Given the description of an element on the screen output the (x, y) to click on. 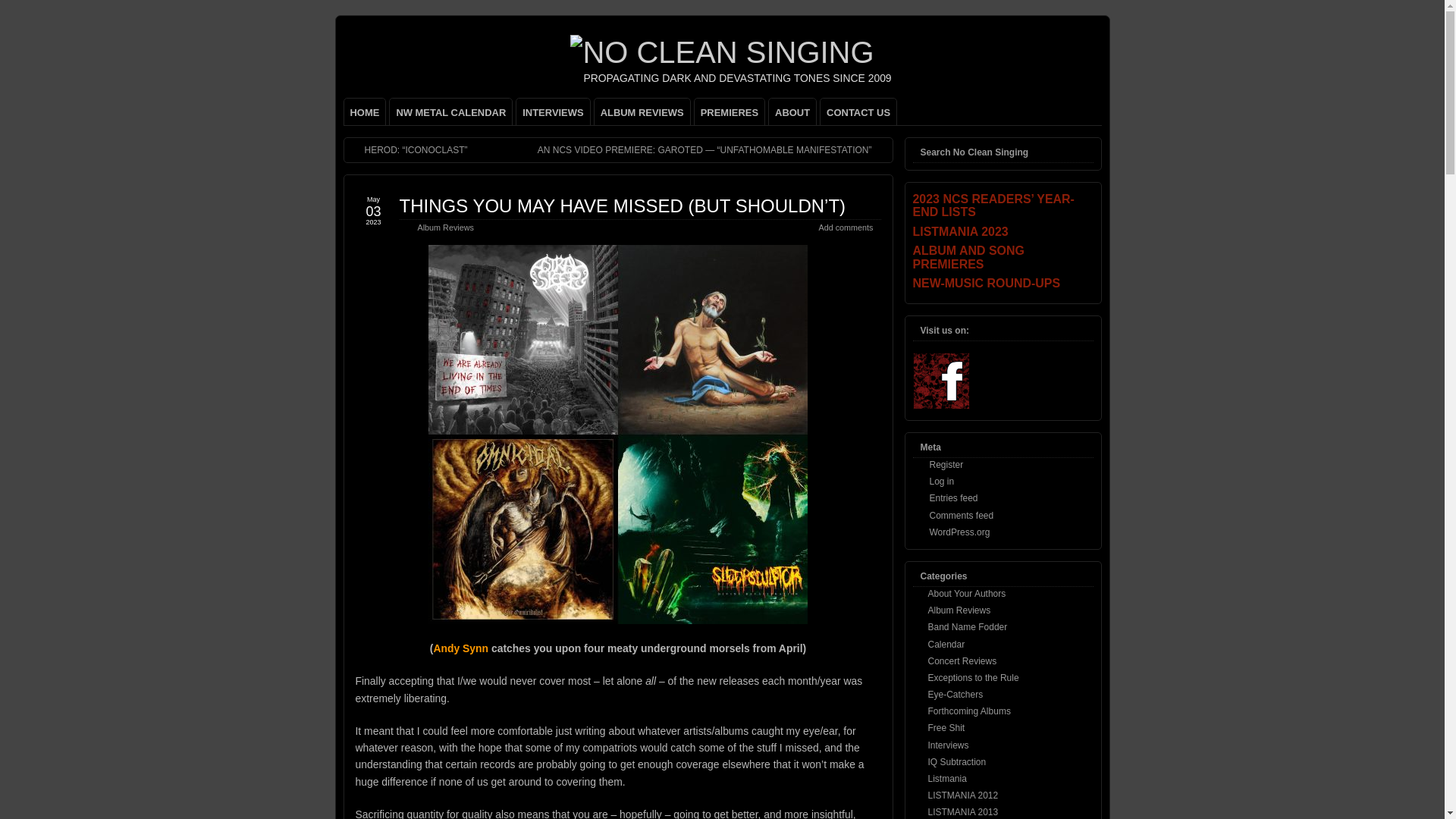
Add comments (845, 226)
INTERVIEWS (552, 111)
CONTACT US (858, 111)
Comments feed (962, 515)
NEW-MUSIC ROUND-UPS (1002, 283)
ALBUM AND SONG PREMIERES (1002, 257)
Album Reviews (444, 226)
PREMIERES (729, 111)
NW METAL CALENDAR (451, 111)
Entries feed (954, 498)
